Given the description of an element on the screen output the (x, y) to click on. 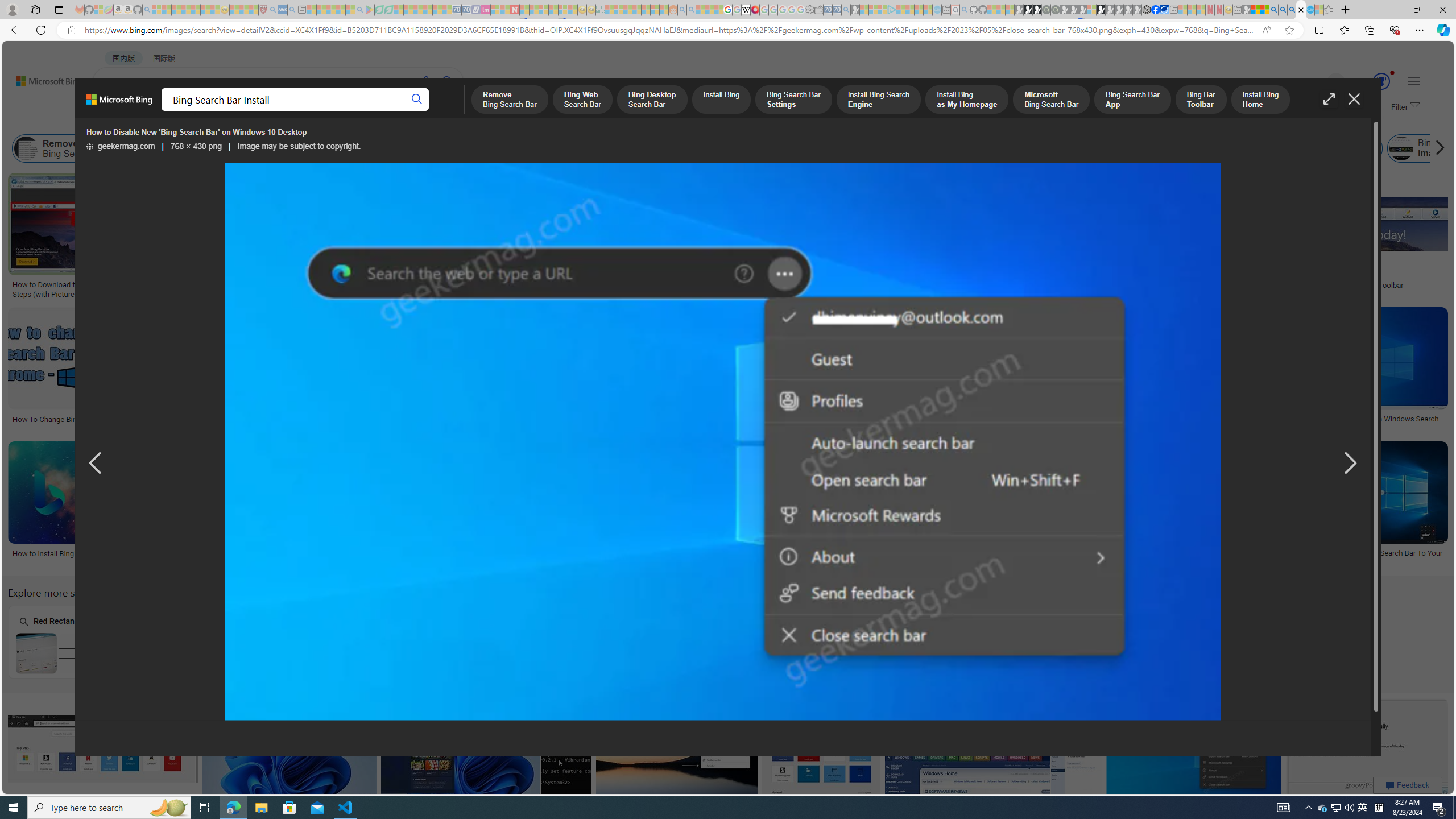
ACADEMIC (360, 111)
Bing Desktop Search Bar (231, 148)
Back to Bing search (41, 78)
Bing Image Search Not Working (1401, 148)
Search button (417, 99)
2:33 (824, 452)
